Given the description of an element on the screen output the (x, y) to click on. 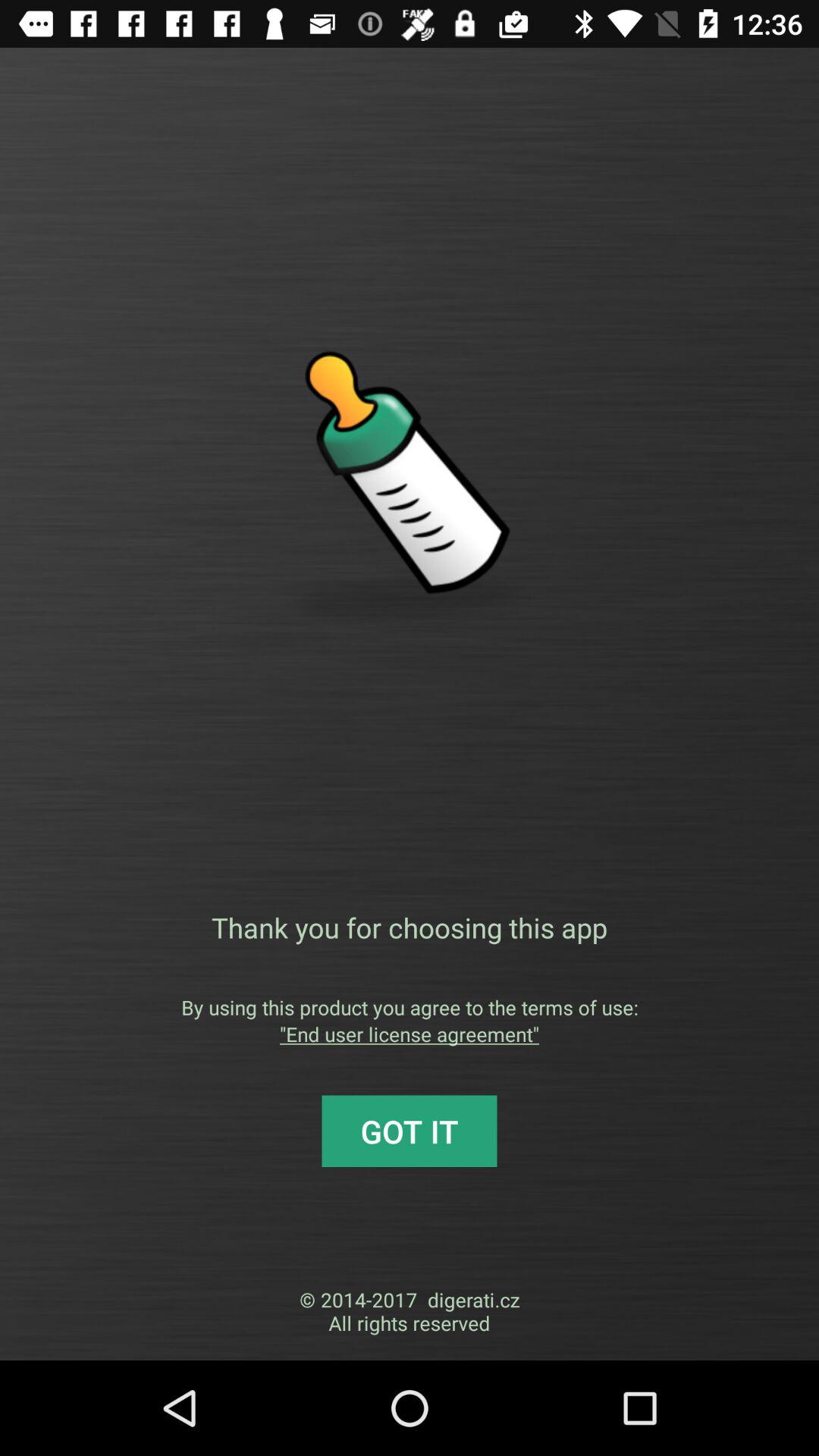
tap the icon above end user license icon (409, 1007)
